Given the description of an element on the screen output the (x, y) to click on. 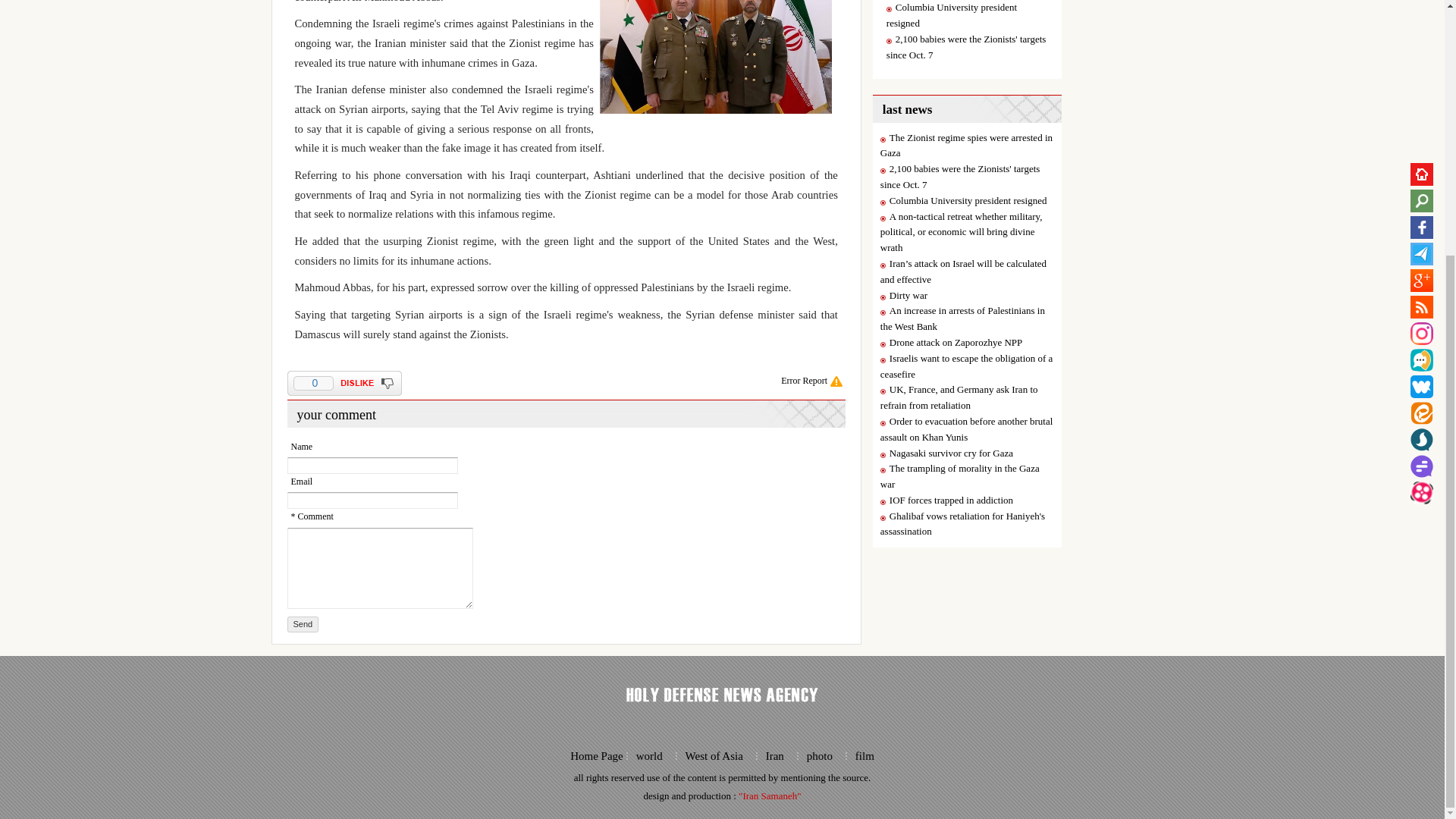
Send (302, 624)
2,100 babies were the Zionists' targets since Oct. 7 (967, 47)
Columbia University president resigned (967, 15)
